Given the description of an element on the screen output the (x, y) to click on. 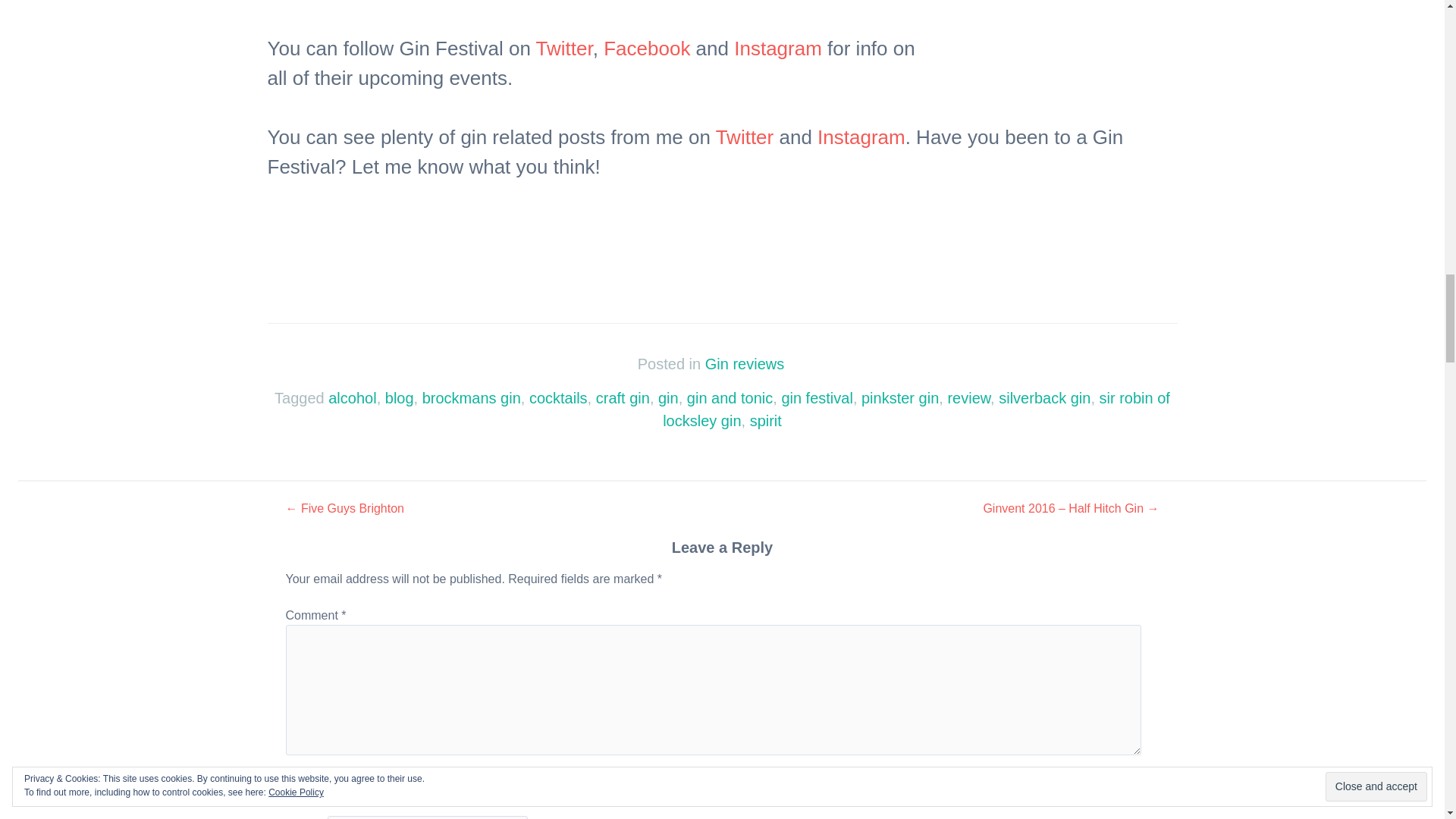
Facebook (647, 47)
Twitter (563, 47)
Twitter (745, 137)
Instagram (777, 47)
